Given the description of an element on the screen output the (x, y) to click on. 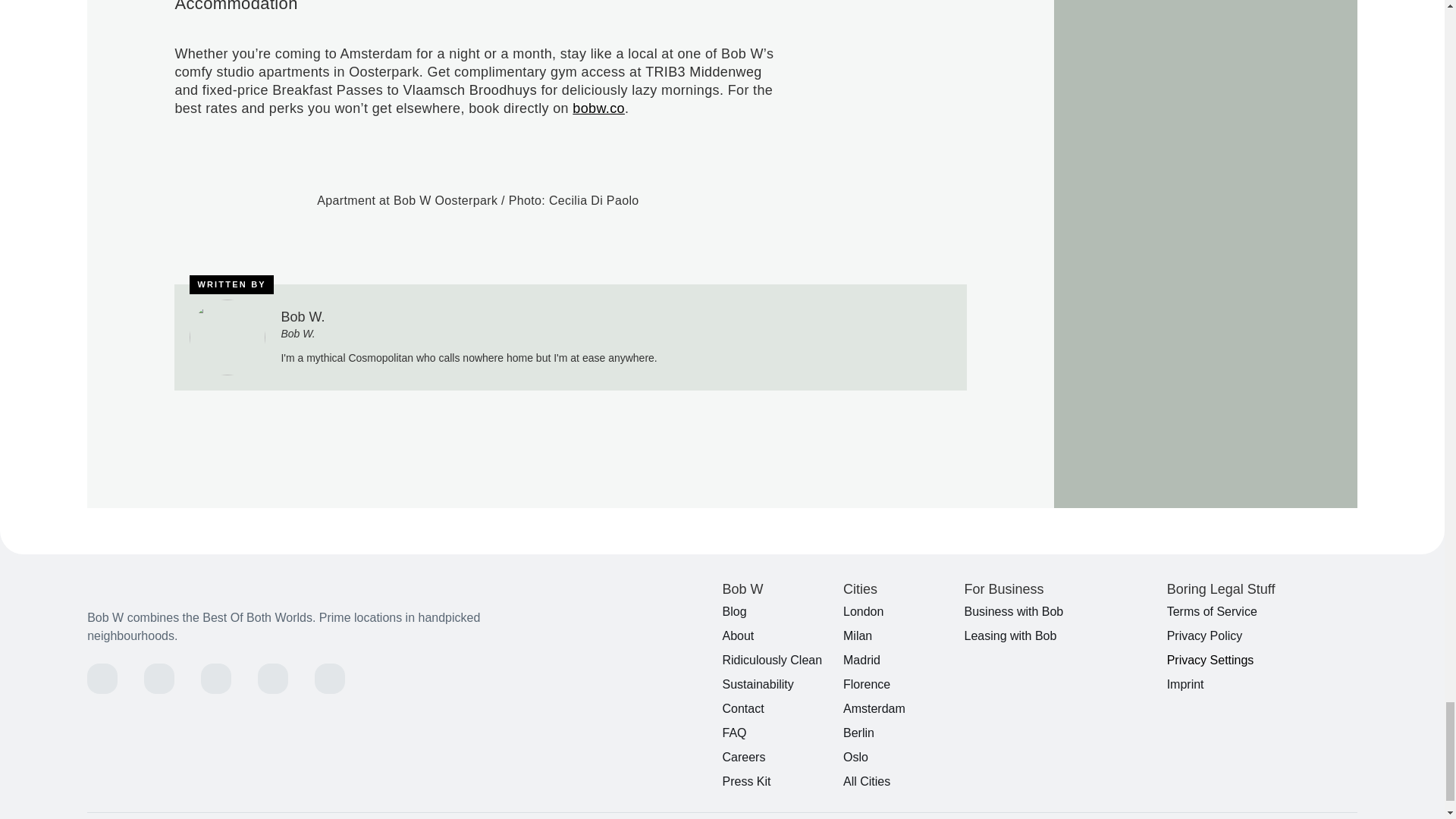
London (897, 611)
FAQ (776, 732)
Madrid (897, 660)
Press Kit (776, 782)
bobw.co (598, 108)
Milan (897, 636)
Blog (776, 611)
Contact (776, 709)
Sustainability (776, 684)
Ridiculously Clean (776, 660)
